Given the description of an element on the screen output the (x, y) to click on. 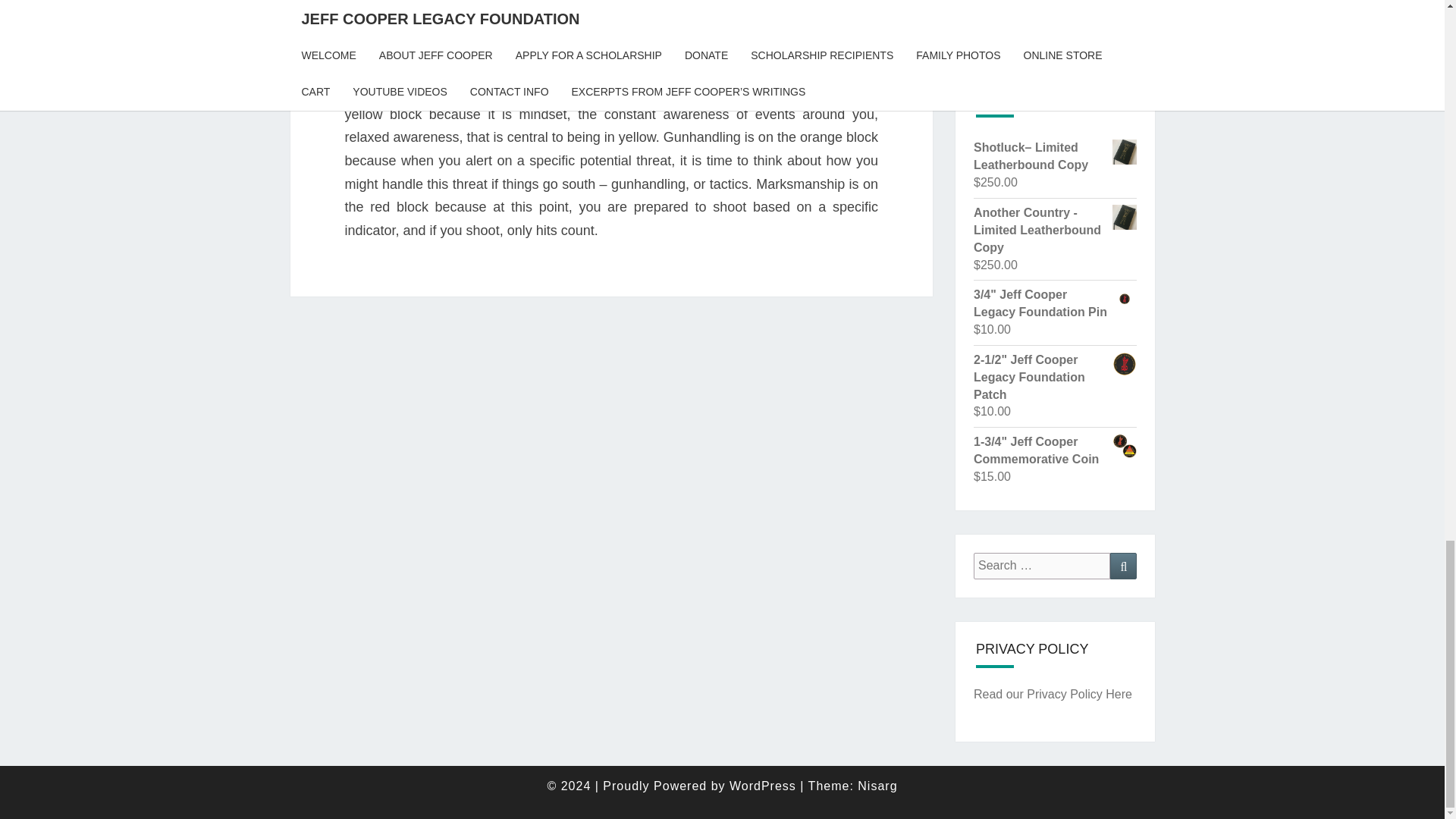
Read our Privacy Policy Here (1053, 694)
Search for: (1041, 565)
Search (1123, 565)
WordPress (762, 785)
Nisarg (876, 785)
Another Country - Limited Leatherbound Copy (1055, 230)
